Given the description of an element on the screen output the (x, y) to click on. 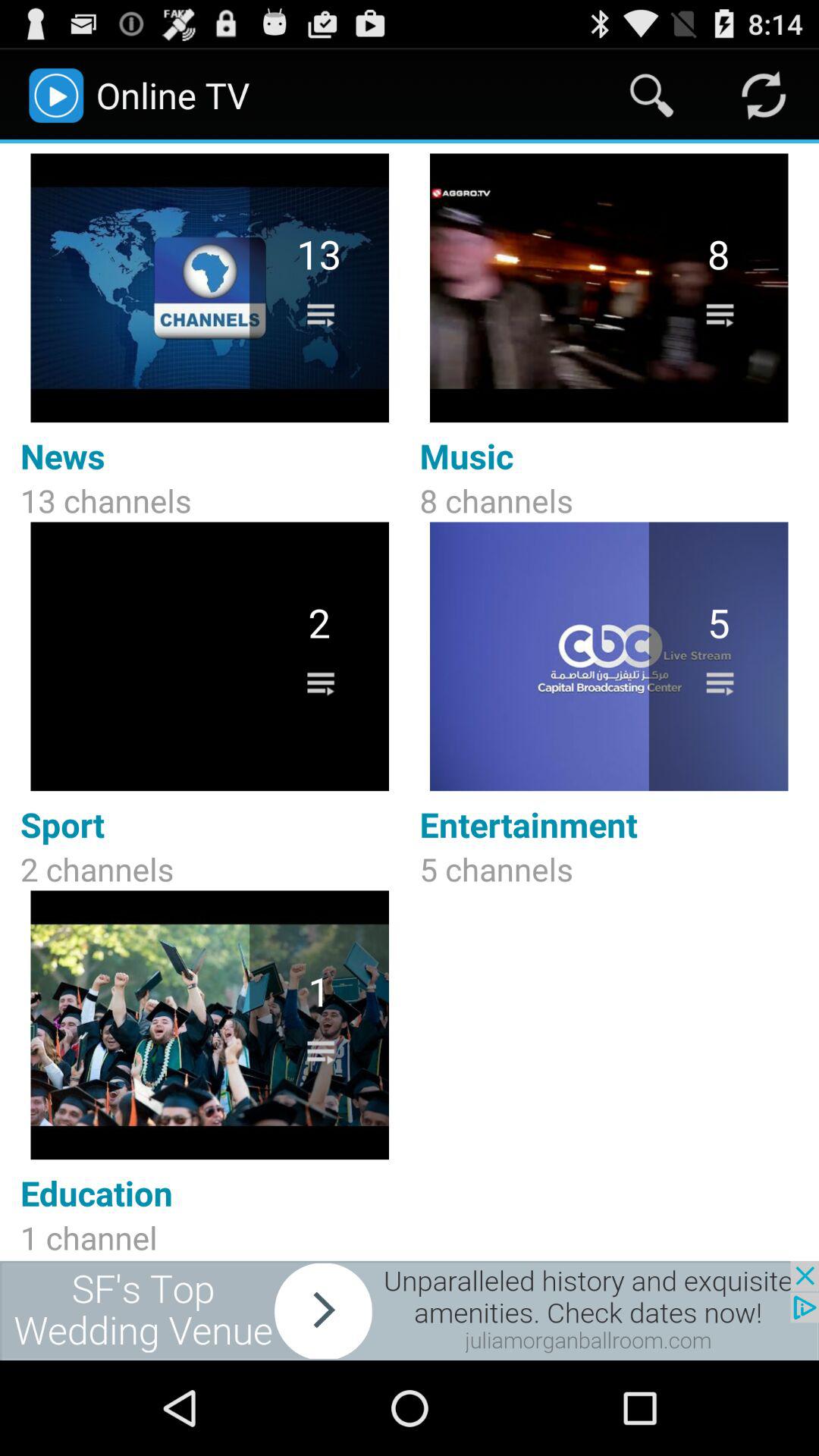
refresh page (763, 95)
